Given the description of an element on the screen output the (x, y) to click on. 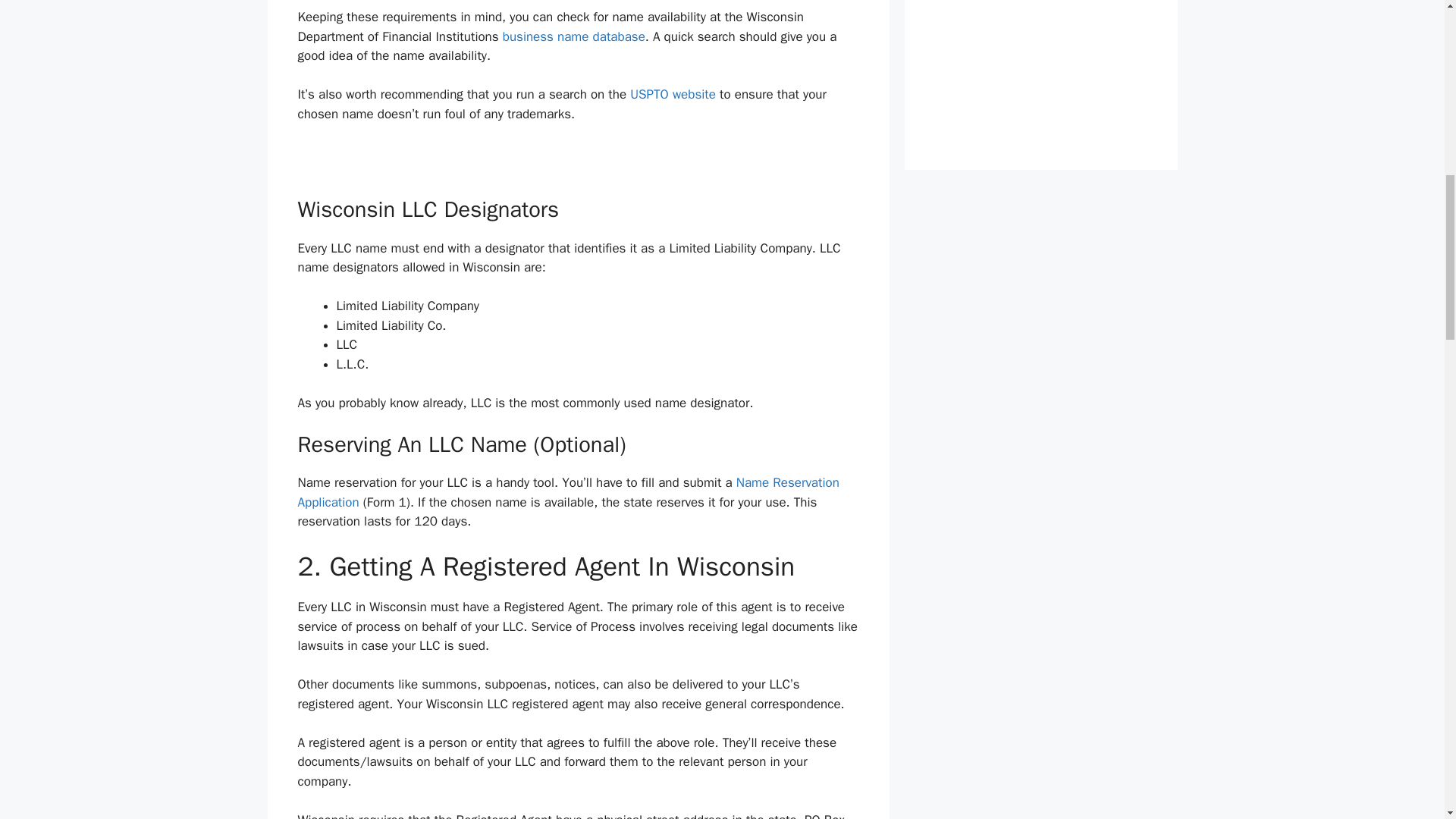
Advertisement (1040, 40)
business name database (573, 36)
Name Reservation Application (567, 492)
USPTO website (673, 94)
